Given the description of an element on the screen output the (x, y) to click on. 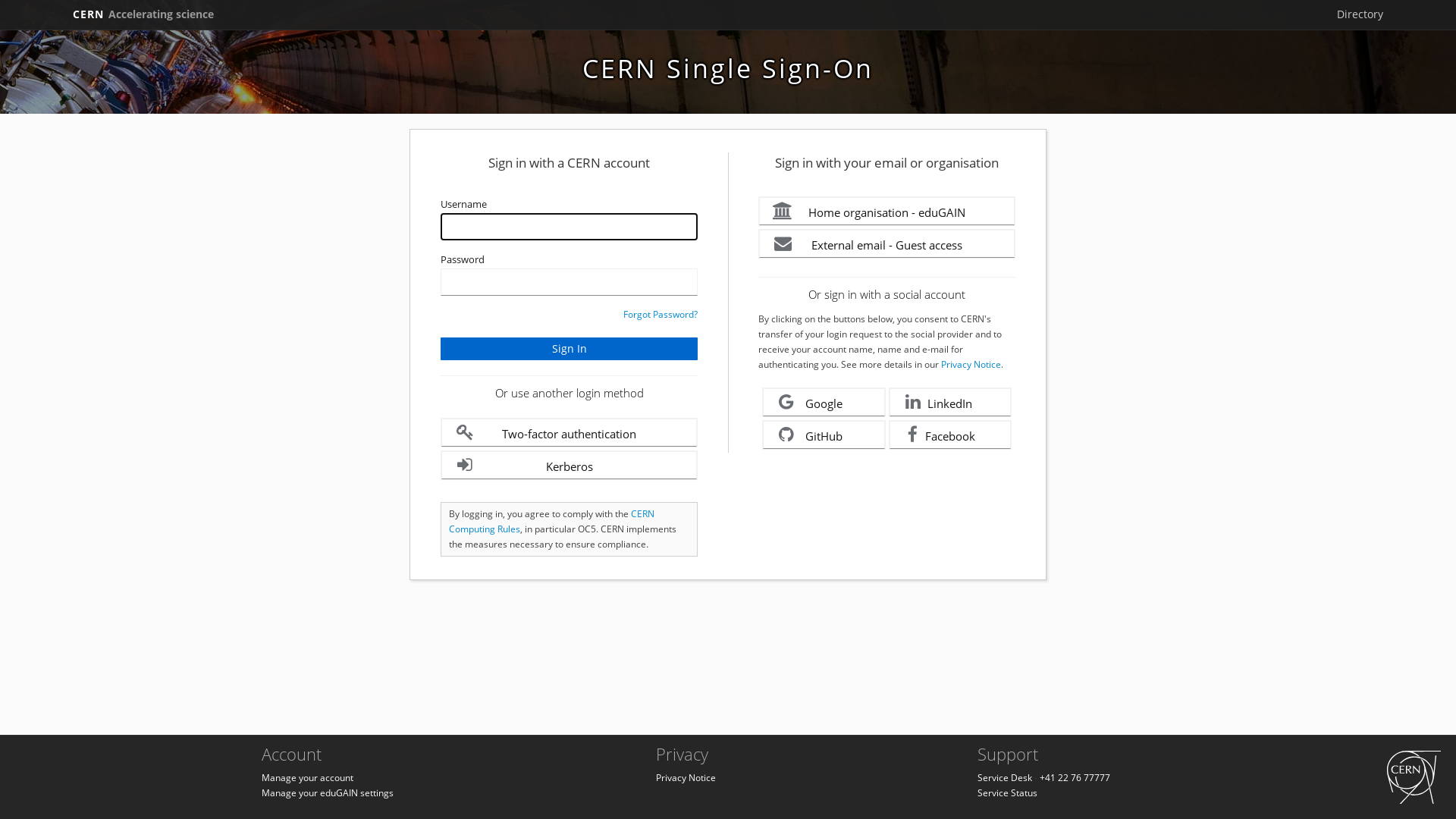
Manage your eduGAIN settings Element type: text (327, 792)
Privacy Notice Element type: text (685, 777)
Two-factor authentication Element type: text (568, 432)
Directory Element type: text (1359, 14)
Privacy Notice Element type: text (971, 363)
Facebook Element type: text (950, 434)
CERN Accelerating science Element type: text (142, 14)
Manage your account Element type: text (307, 777)
Service Status Element type: text (1007, 792)
Kerberos Element type: text (568, 465)
Google Element type: text (823, 402)
Service Desk Element type: text (1004, 777)
Sign In Element type: text (568, 348)
Home organisation - eduGAIN Element type: text (886, 210)
+41 22 76 77777 Element type: text (1074, 777)
CERN Computing Rules Element type: text (551, 521)
External email - Guest access Element type: text (886, 243)
Forgot Password? Element type: text (660, 313)
LinkedIn Element type: text (950, 402)
GitHub Element type: text (823, 434)
